Given the description of an element on the screen output the (x, y) to click on. 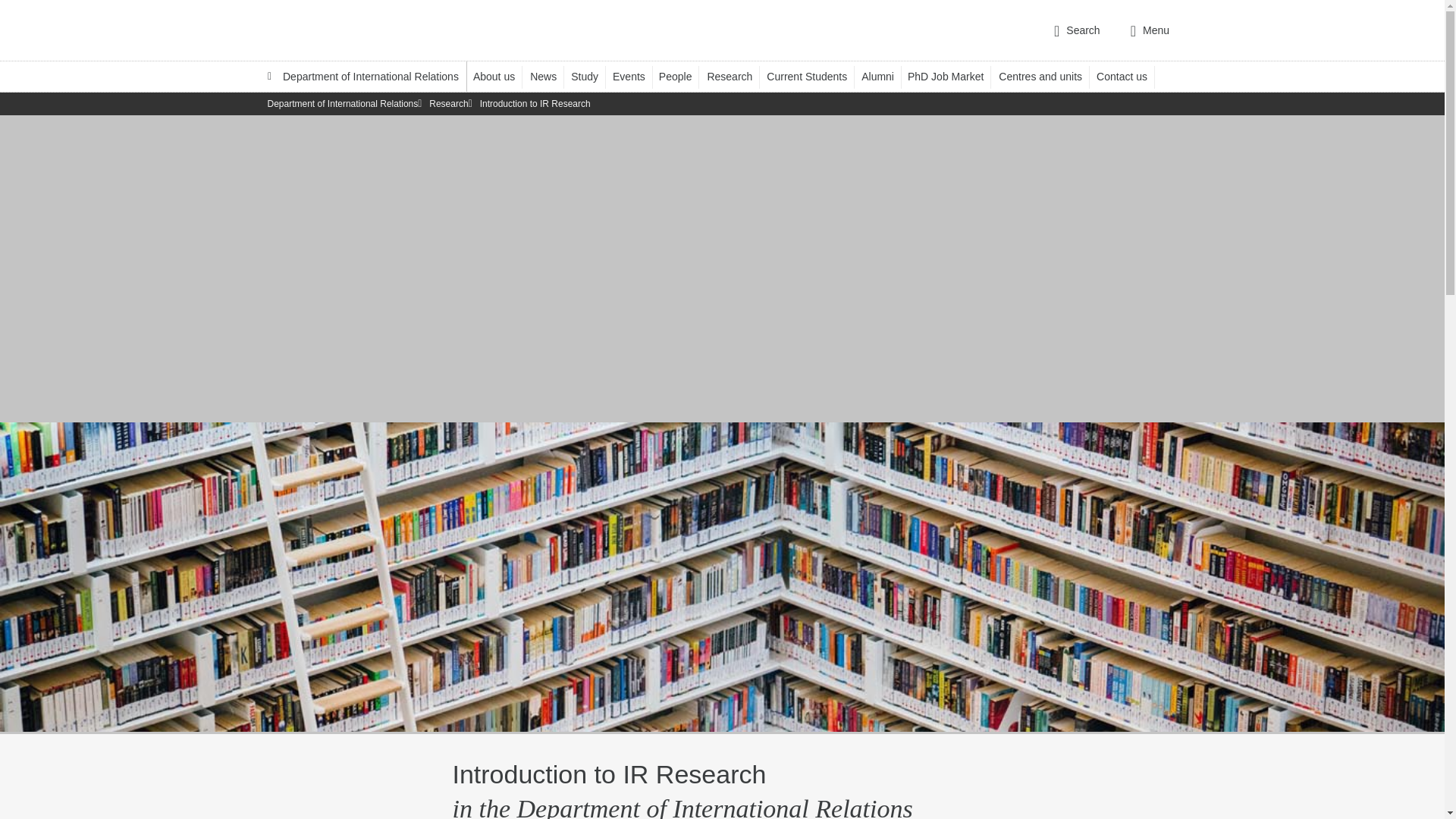
Current Students (814, 76)
About us (501, 76)
Study (591, 76)
About us (501, 76)
Alumni (884, 76)
Alumni (884, 76)
Centres and units (1047, 76)
Centres and units (1047, 76)
Search (1077, 30)
Contact us (1128, 76)
People (682, 76)
Research (736, 76)
Current Students (814, 76)
London School of Economics and Political Science (330, 30)
Department of International Relations (362, 76)
